Given the description of an element on the screen output the (x, y) to click on. 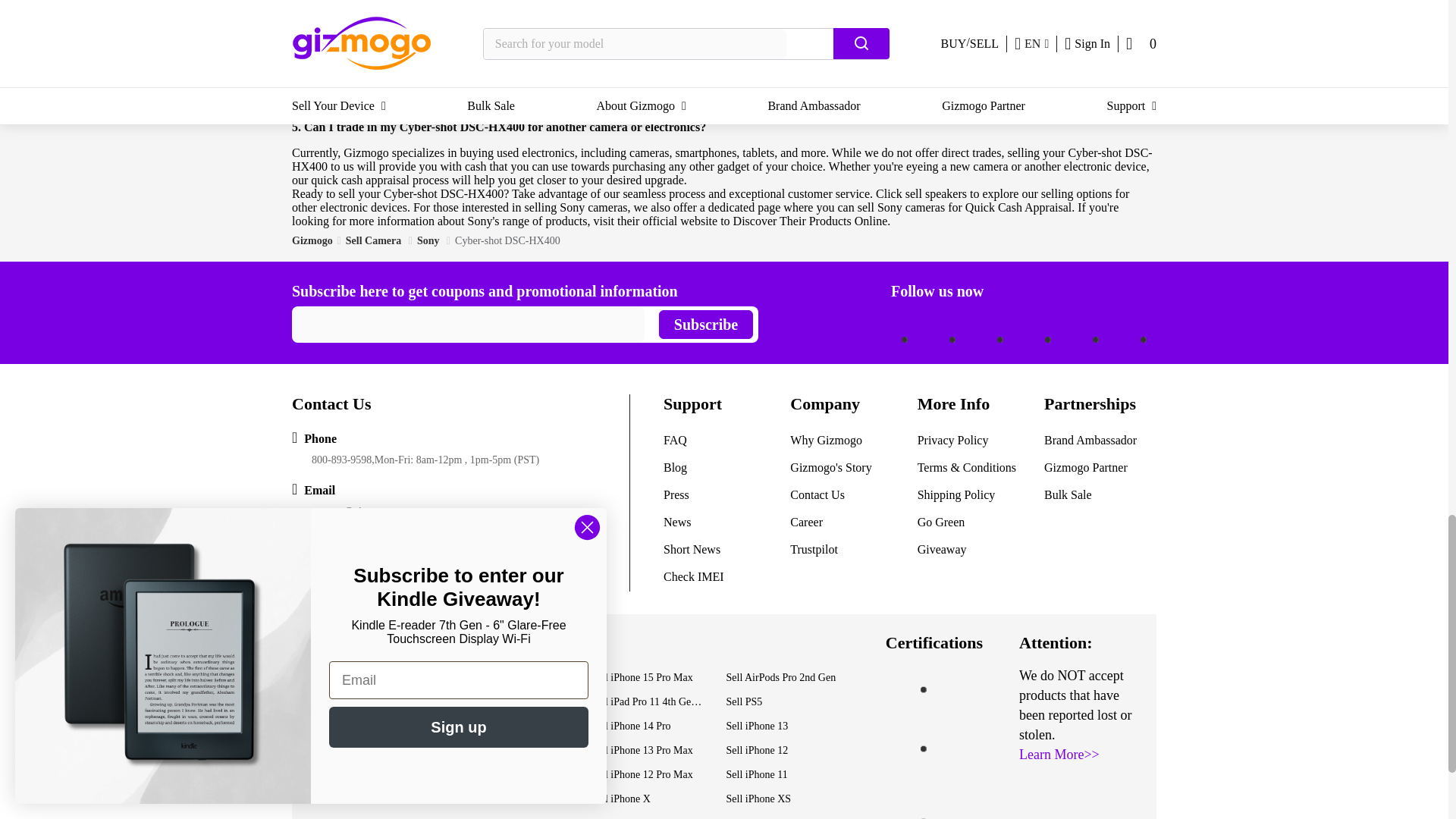
Gizmogo (312, 240)
Sony (429, 240)
Sell Camera (375, 240)
Discover Their Products Online (810, 220)
sell speakers (935, 193)
sell Sony cameras for Quick Cash Appraisal (964, 206)
